Given the description of an element on the screen output the (x, y) to click on. 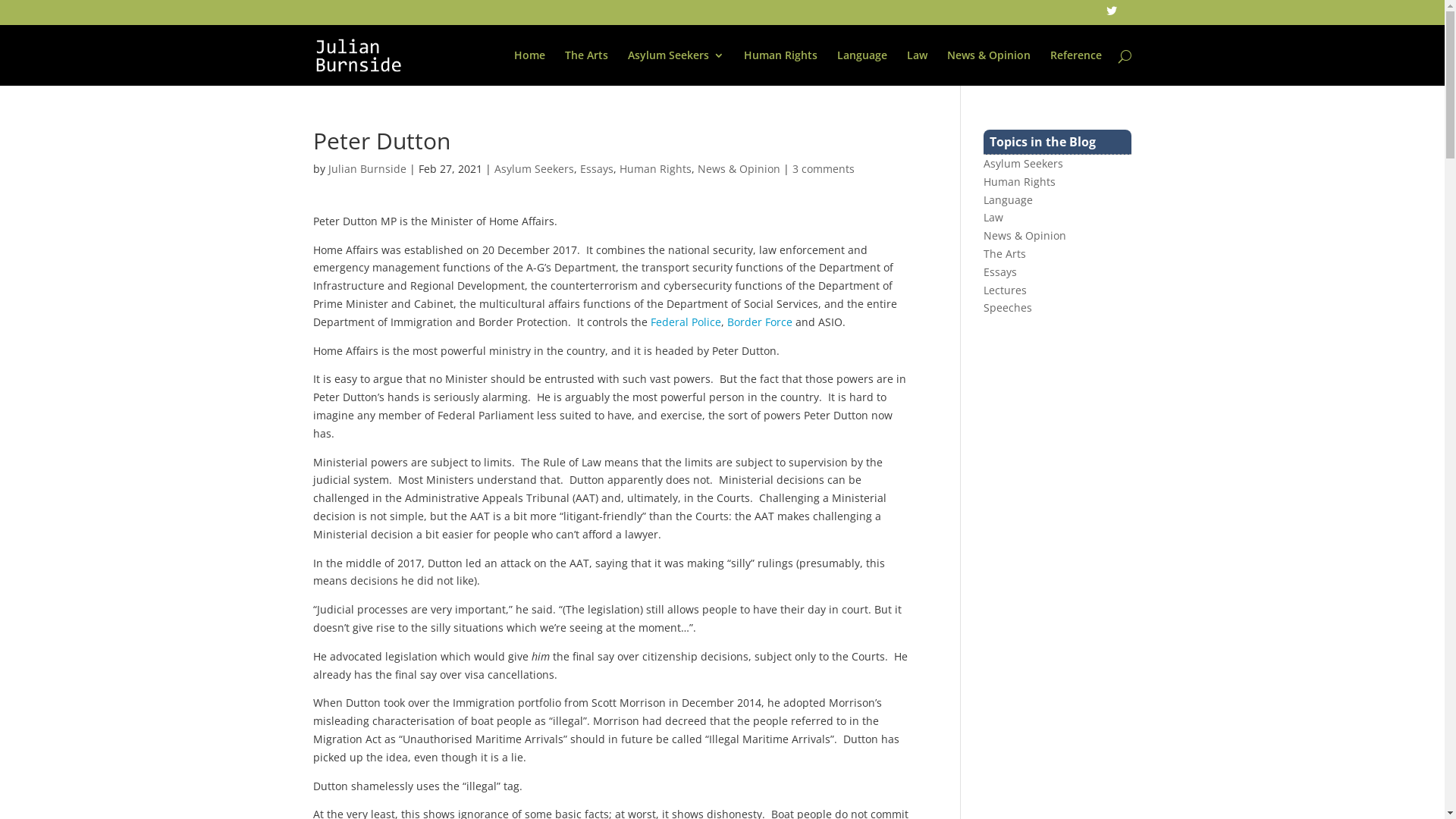
News & Opinion Element type: text (987, 67)
Essays Element type: text (999, 271)
Reference Element type: text (1075, 67)
Law Element type: text (916, 67)
Human Rights Element type: text (779, 67)
Asylum Seekers Element type: text (1023, 163)
Language Element type: text (1007, 199)
Federal Police Element type: text (685, 321)
The Arts Element type: text (585, 67)
The Arts Element type: text (1004, 253)
Speeches Element type: text (1007, 307)
Asylum Seekers Element type: text (534, 168)
Julian Burnside Element type: text (366, 168)
Lectures Element type: text (1004, 289)
News & Opinion Element type: text (738, 168)
Law Element type: text (993, 217)
News & Opinion Element type: text (1024, 235)
Border Force Element type: text (758, 321)
Home Element type: text (529, 67)
Essays Element type: text (595, 168)
Asylum Seekers Element type: text (675, 67)
Language Element type: text (862, 67)
Human Rights Element type: text (654, 168)
Human Rights Element type: text (1019, 181)
3 comments Element type: text (822, 168)
